Given the description of an element on the screen output the (x, y) to click on. 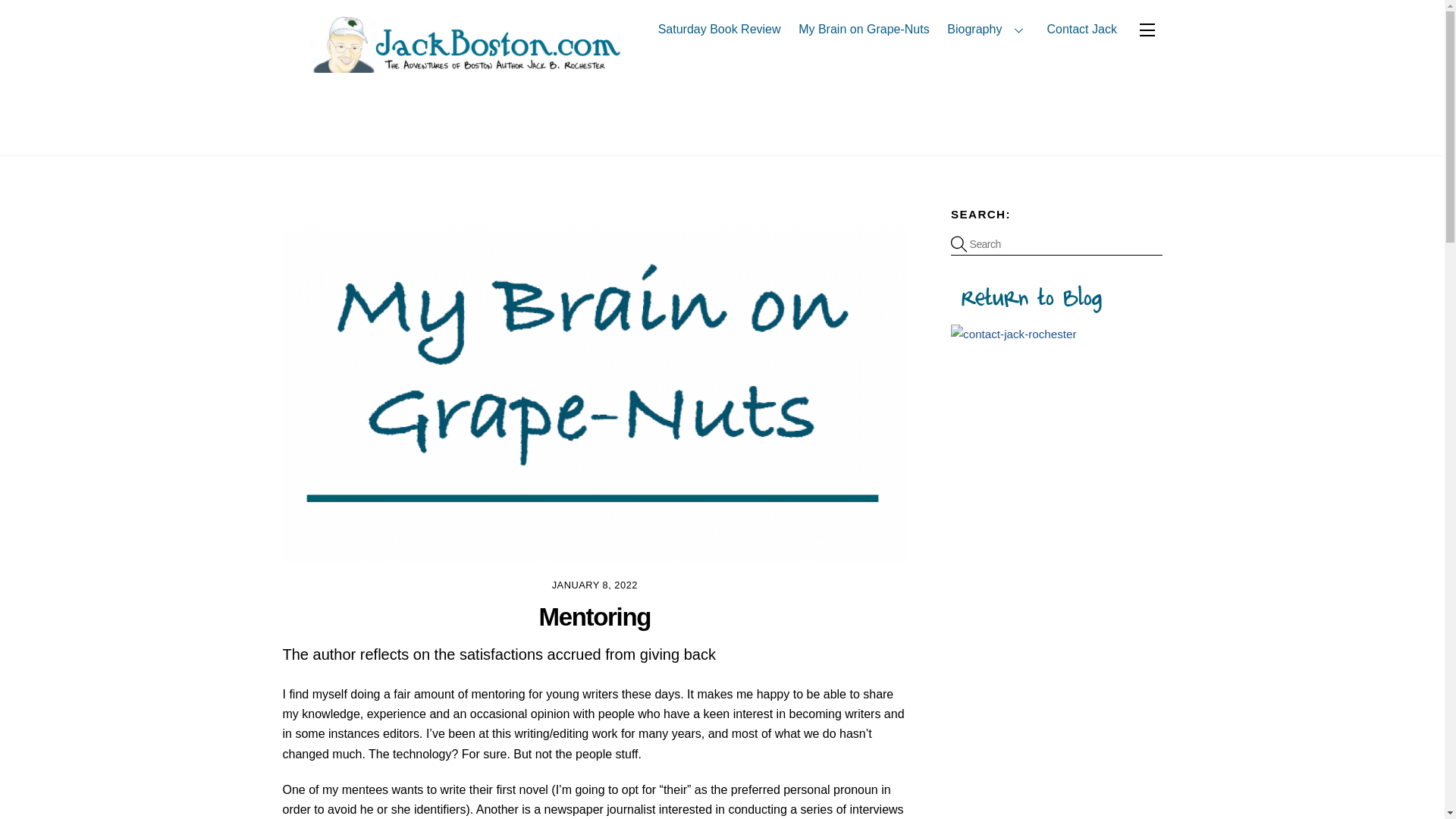
Biography (988, 29)
JackBoston (452, 65)
Saturday Book Review (718, 29)
Mentoring (594, 616)
My Brain on Grape-Nuts (864, 29)
Contact Jack (1081, 29)
Widgets (1146, 29)
Search (1055, 244)
